Given the description of an element on the screen output the (x, y) to click on. 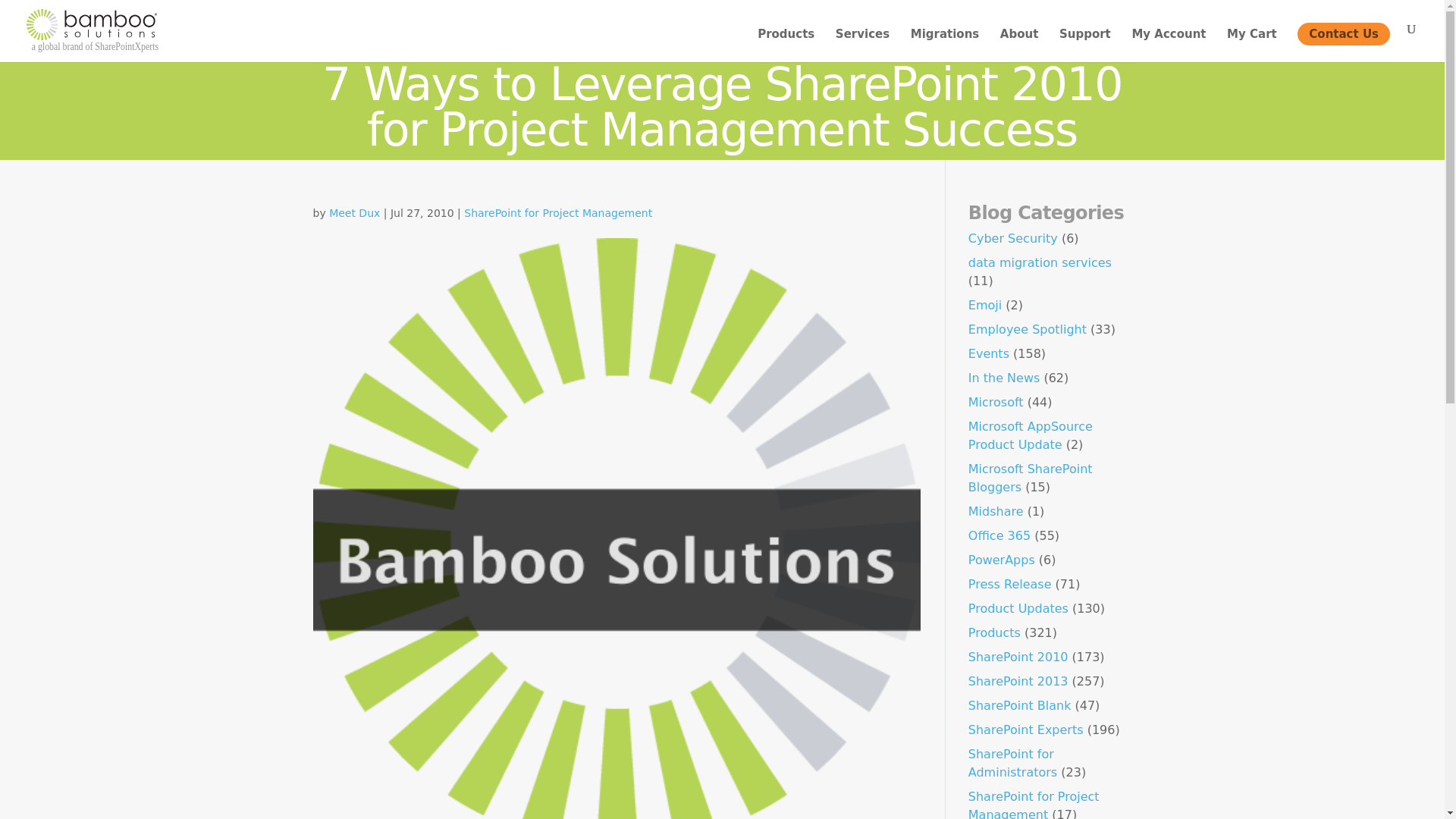
Posts by Meet Dux (354, 213)
Services (862, 45)
Products (785, 45)
Migrations (945, 45)
